Given the description of an element on the screen output the (x, y) to click on. 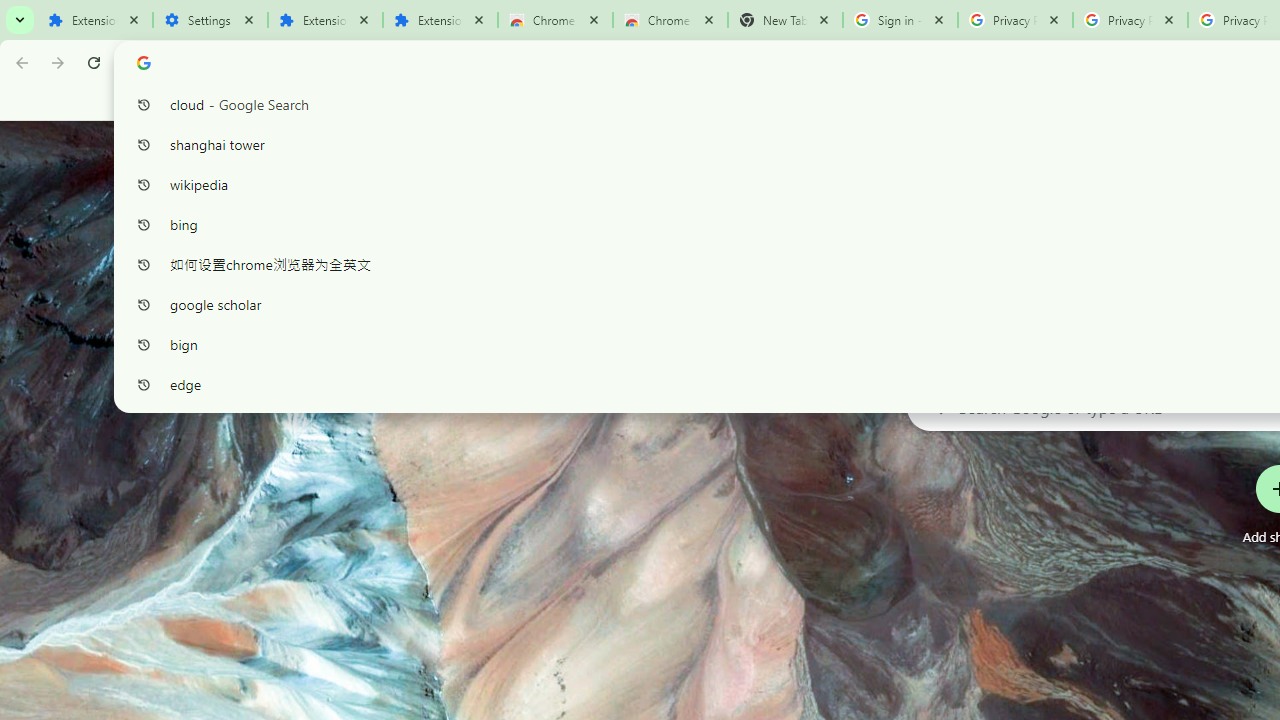
Sign in - Google Accounts (900, 20)
Extensions (324, 20)
Settings (209, 20)
